Given the description of an element on the screen output the (x, y) to click on. 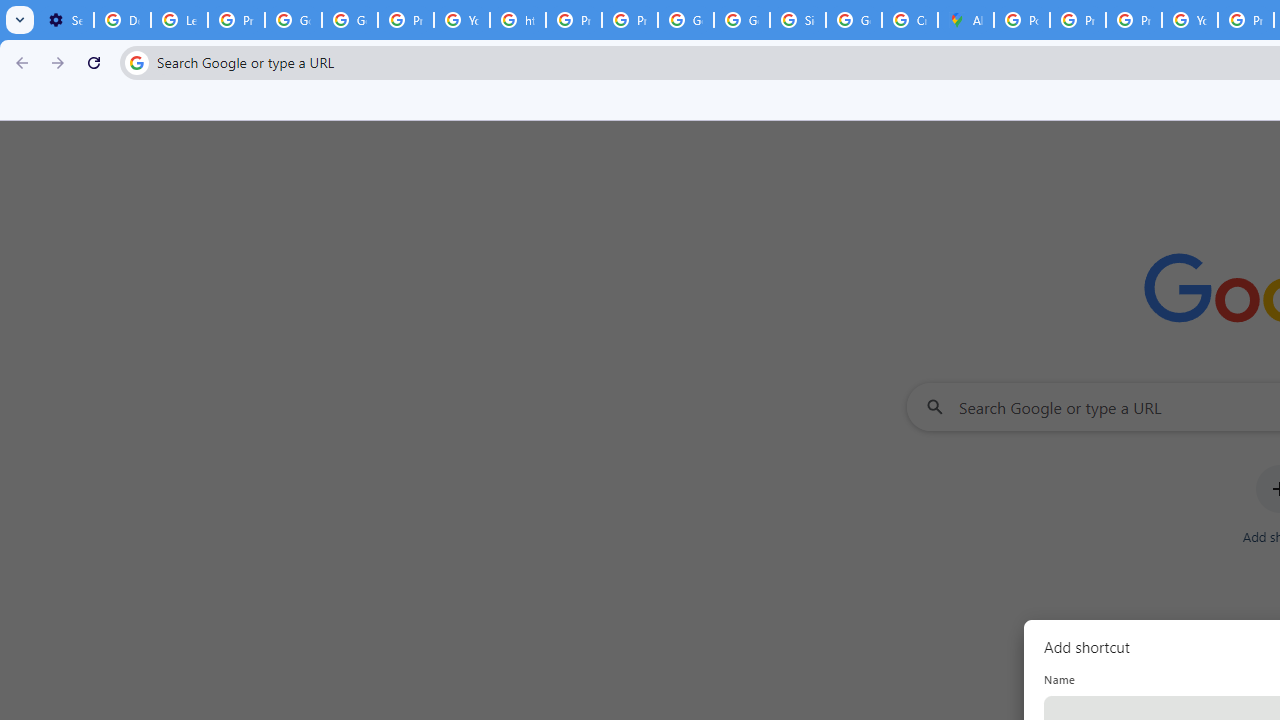
Learn how to find your photos - Google Photos Help (179, 20)
Privacy Help Center - Policies Help (1077, 20)
Google Account Help (293, 20)
Search icon (136, 62)
Privacy Help Center - Policies Help (573, 20)
YouTube (1190, 20)
